Given the description of an element on the screen output the (x, y) to click on. 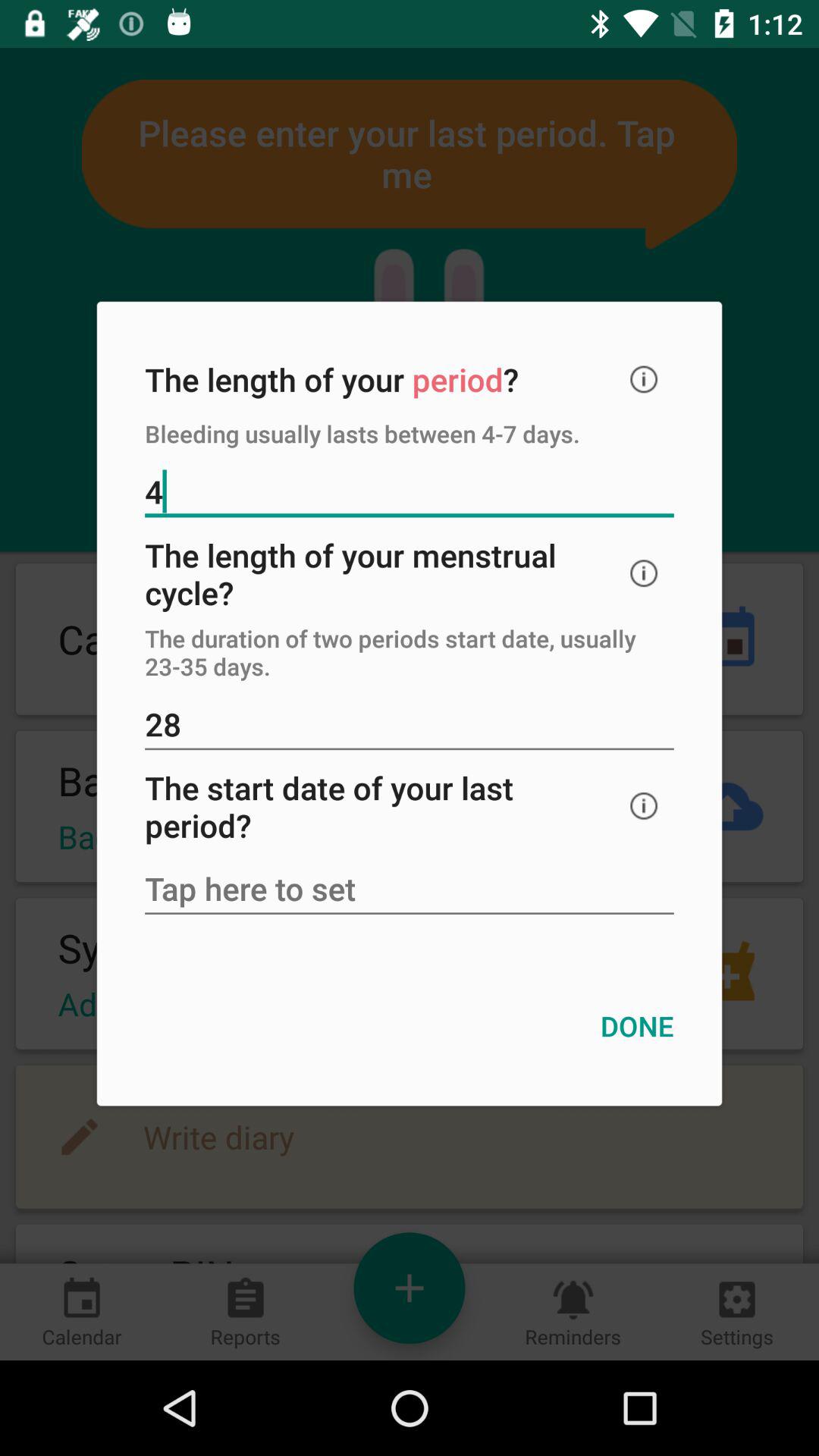
press item at the bottom right corner (636, 1025)
